Given the description of an element on the screen output the (x, y) to click on. 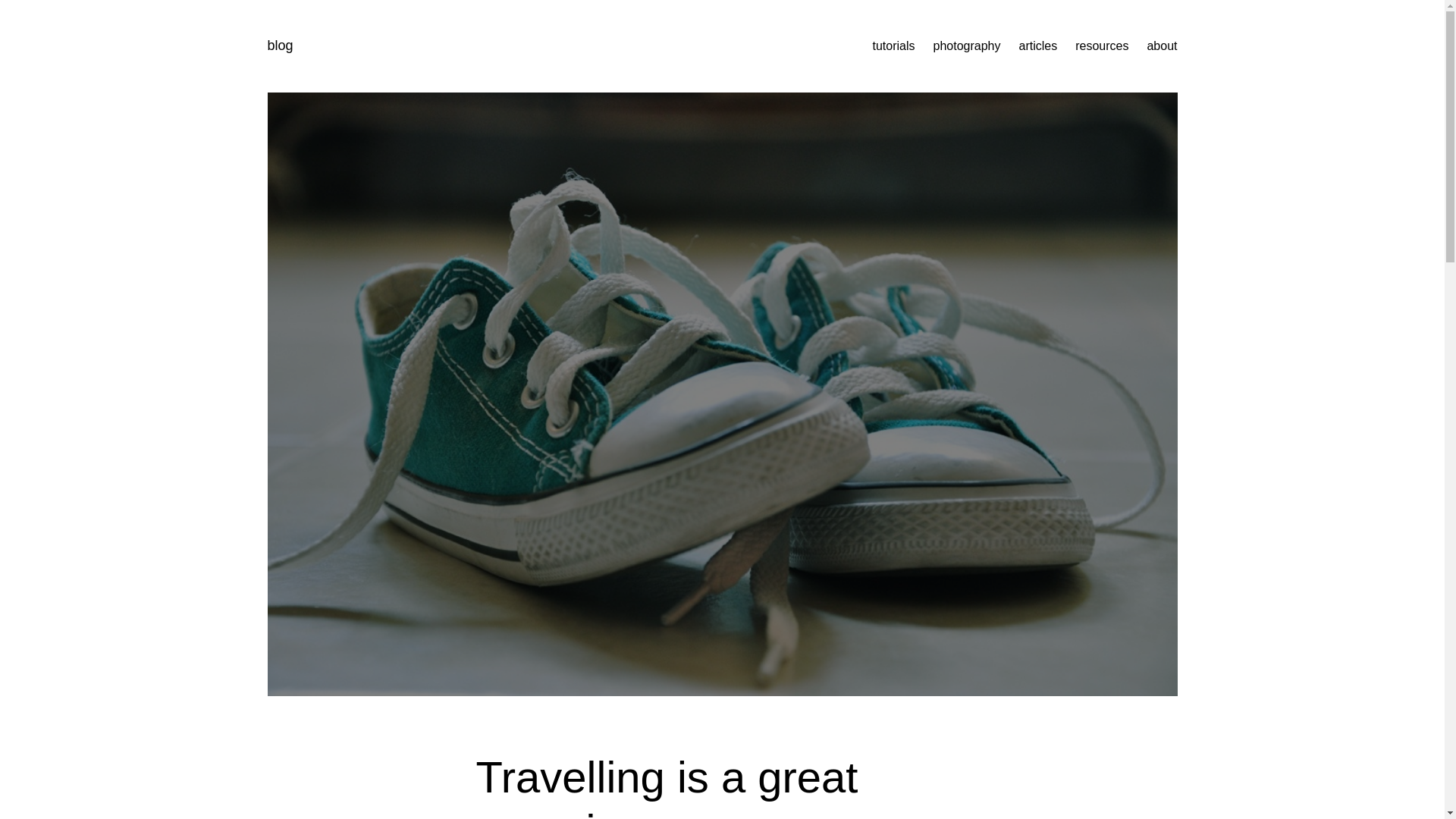
photography (967, 46)
resources (1101, 46)
Read all the way through (1161, 46)
Freebies and everything else from the internet (1101, 46)
about (1161, 46)
Learn something (893, 46)
articles (1038, 46)
Capture the moment (967, 46)
tutorials (893, 46)
Interesting read (1038, 46)
blog (279, 45)
